Given the description of an element on the screen output the (x, y) to click on. 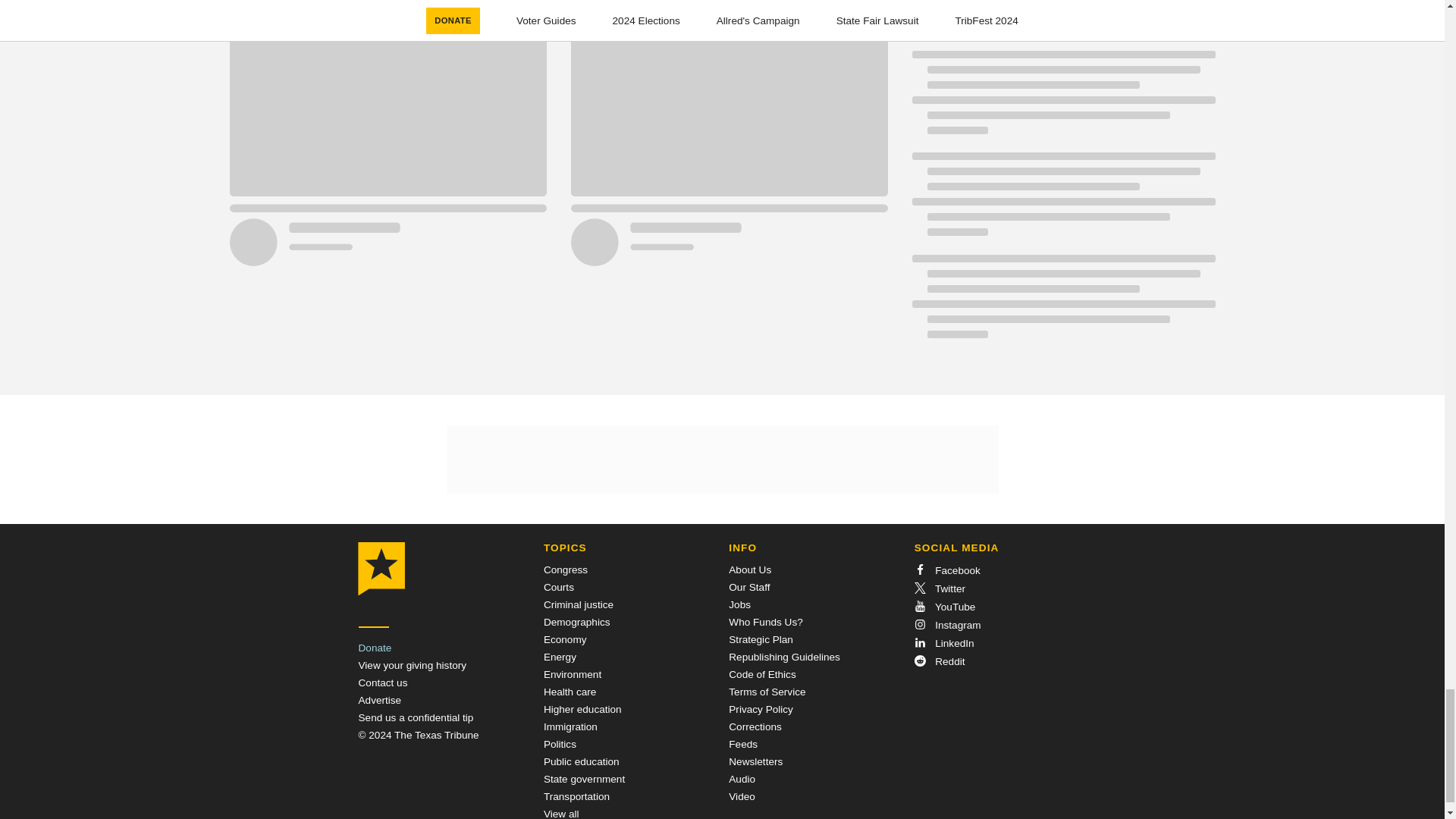
Contact us (382, 682)
Send a Tip (415, 717)
Feeds (743, 744)
Video (742, 796)
Newsletters (756, 761)
Audio (742, 778)
Loading indicator (1062, 303)
Privacy Policy (761, 708)
Loading indicator (1062, 99)
Code of Ethics (761, 674)
